Given the description of an element on the screen output the (x, y) to click on. 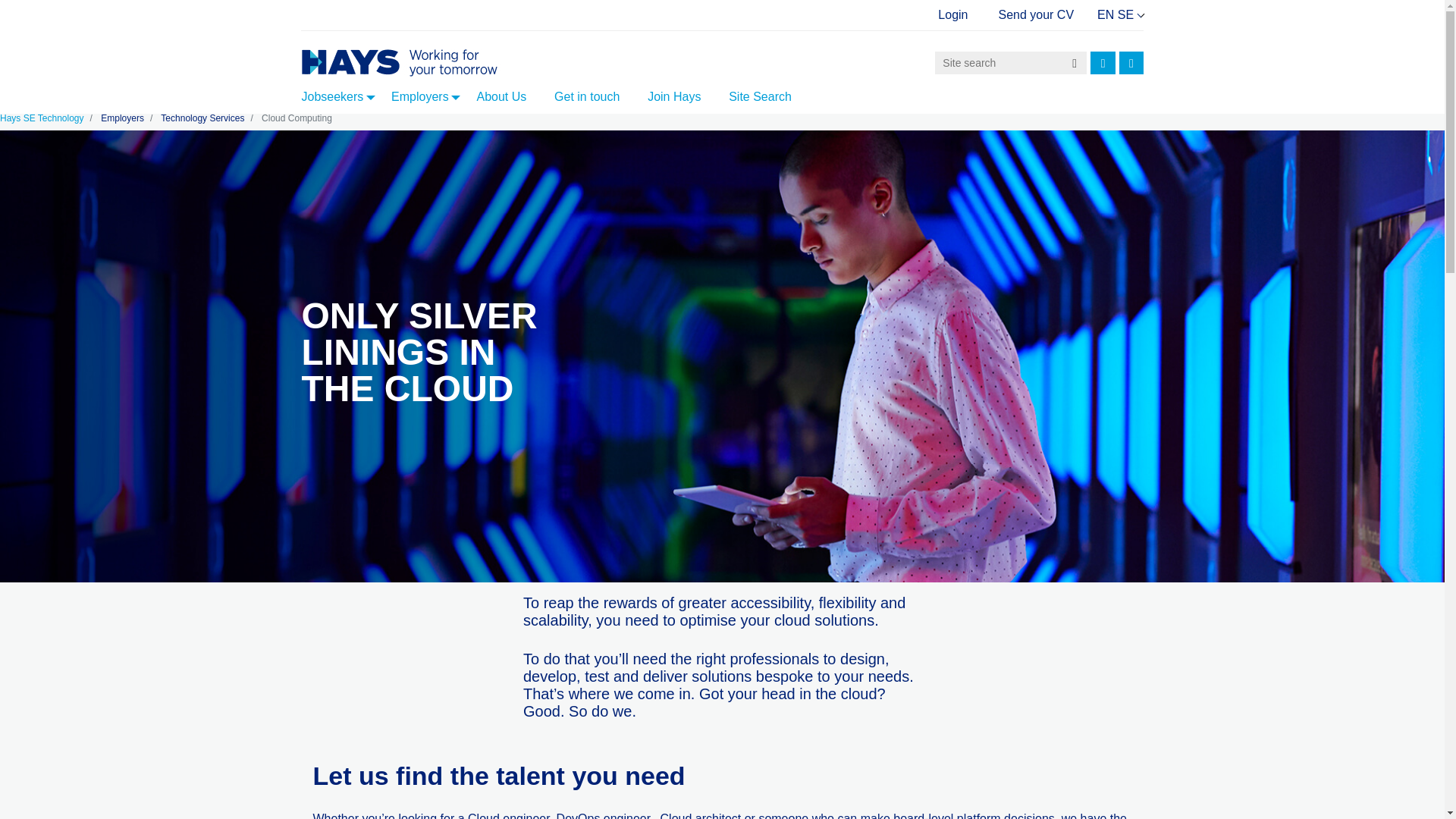
Jobseekers (341, 94)
Employers (429, 94)
Send your CV (1021, 14)
Login (952, 14)
Go to Hays SE Technology (418, 62)
Jobseekers (341, 94)
